Given the description of an element on the screen output the (x, y) to click on. 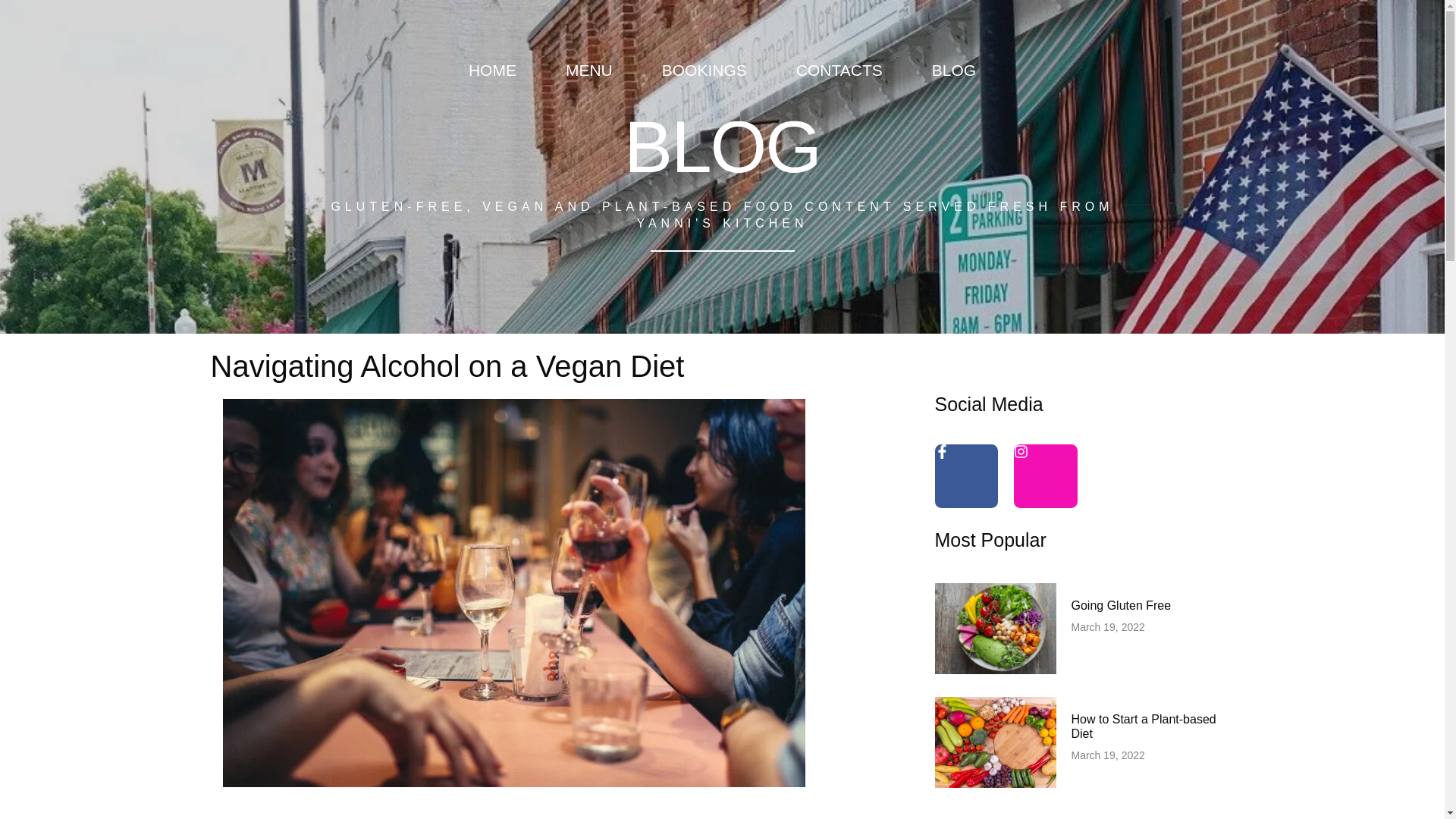
How to Start a Plant-based Diet (1142, 726)
Going Gluten Free (1120, 604)
BOOKINGS (703, 70)
MENU (588, 70)
BLOG (954, 70)
CONTACTS (839, 70)
HOME (491, 70)
